Given the description of an element on the screen output the (x, y) to click on. 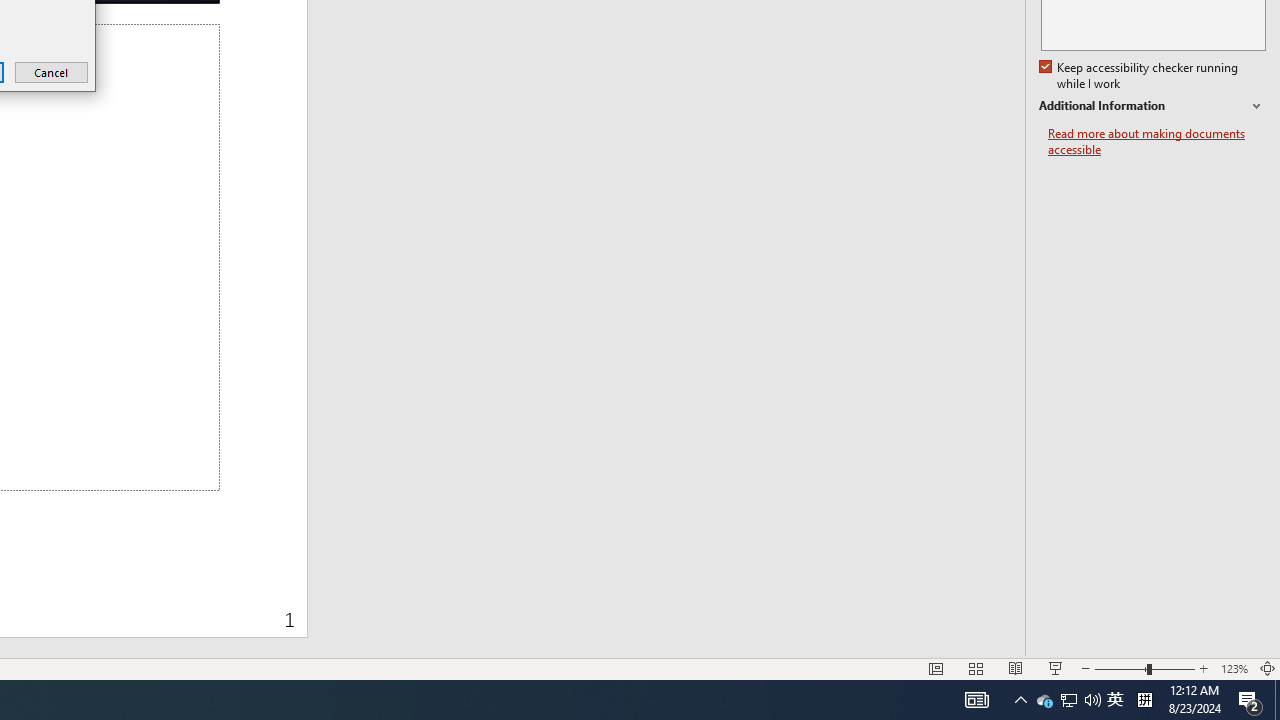
Zoom 123% (1234, 668)
